Given the description of an element on the screen output the (x, y) to click on. 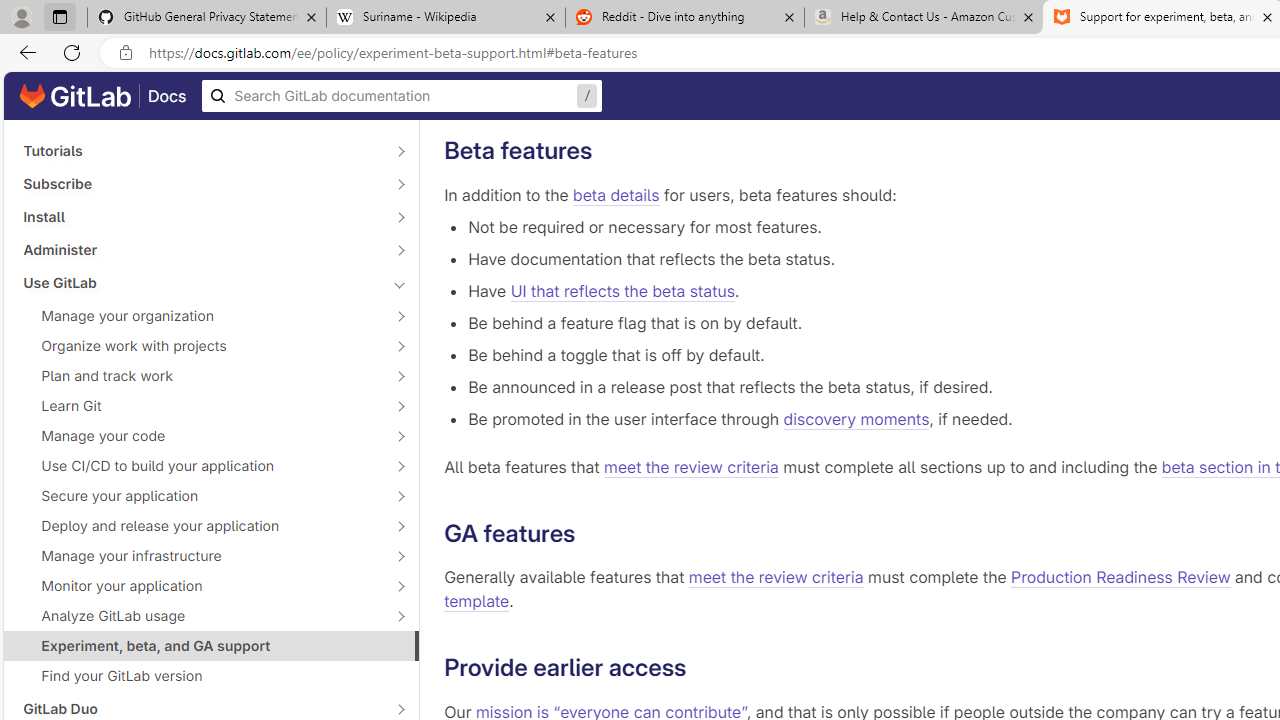
GitLab documentation home (75, 96)
Subscribe (199, 183)
GitLab documentation home Docs (103, 96)
Administer (199, 249)
discovery moments (856, 418)
Learn Git (199, 405)
/ (402, 95)
Deploy and release your application (199, 525)
initiate Production Readiness Review (1025, 84)
Plan and track work (199, 375)
Manage your infrastructure (199, 555)
